Given the description of an element on the screen output the (x, y) to click on. 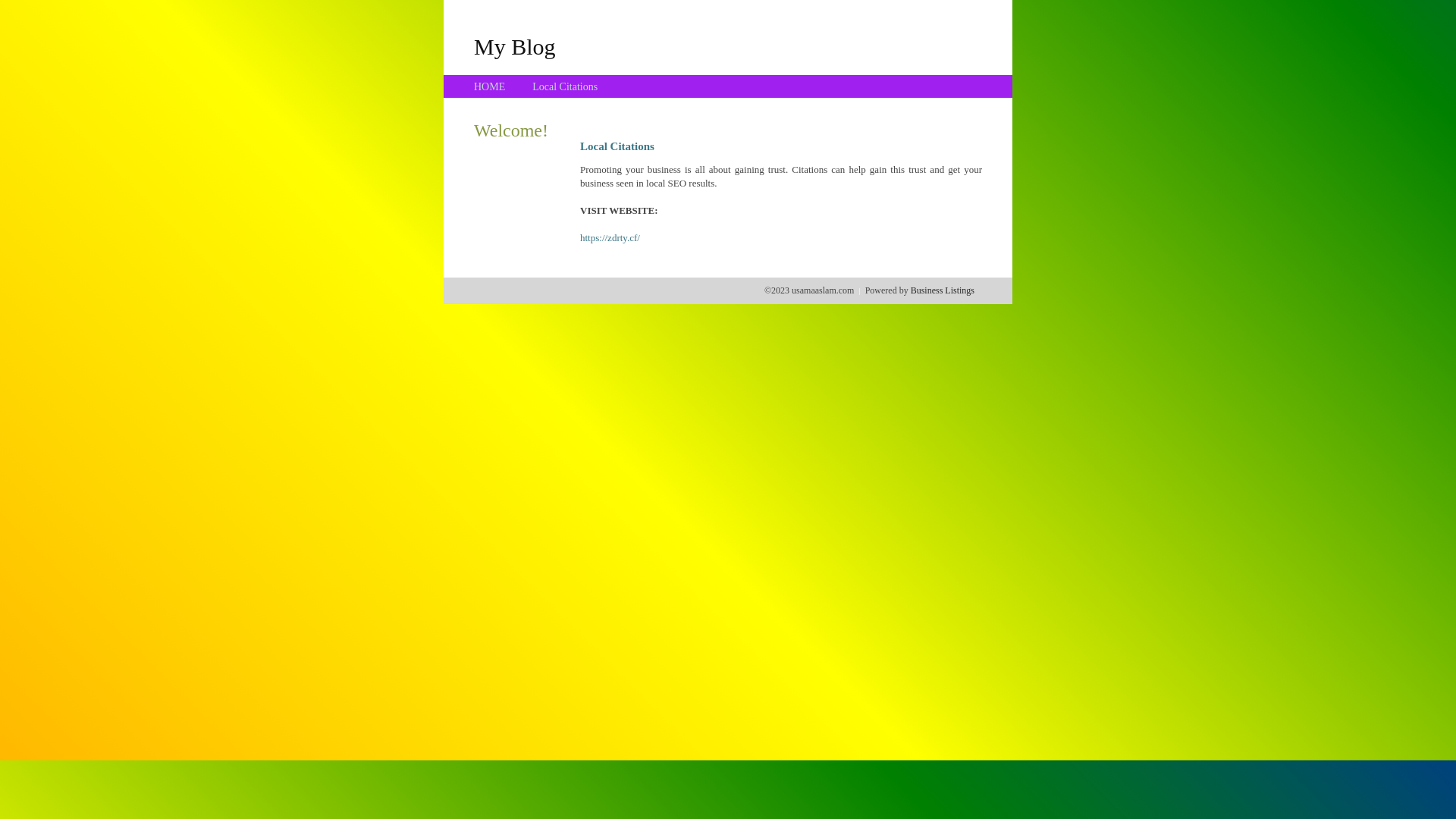
My Blog Element type: text (514, 46)
Local Citations Element type: text (564, 86)
Business Listings Element type: text (942, 290)
https://zdrty.cf/ Element type: text (610, 237)
HOME Element type: text (489, 86)
